Given the description of an element on the screen output the (x, y) to click on. 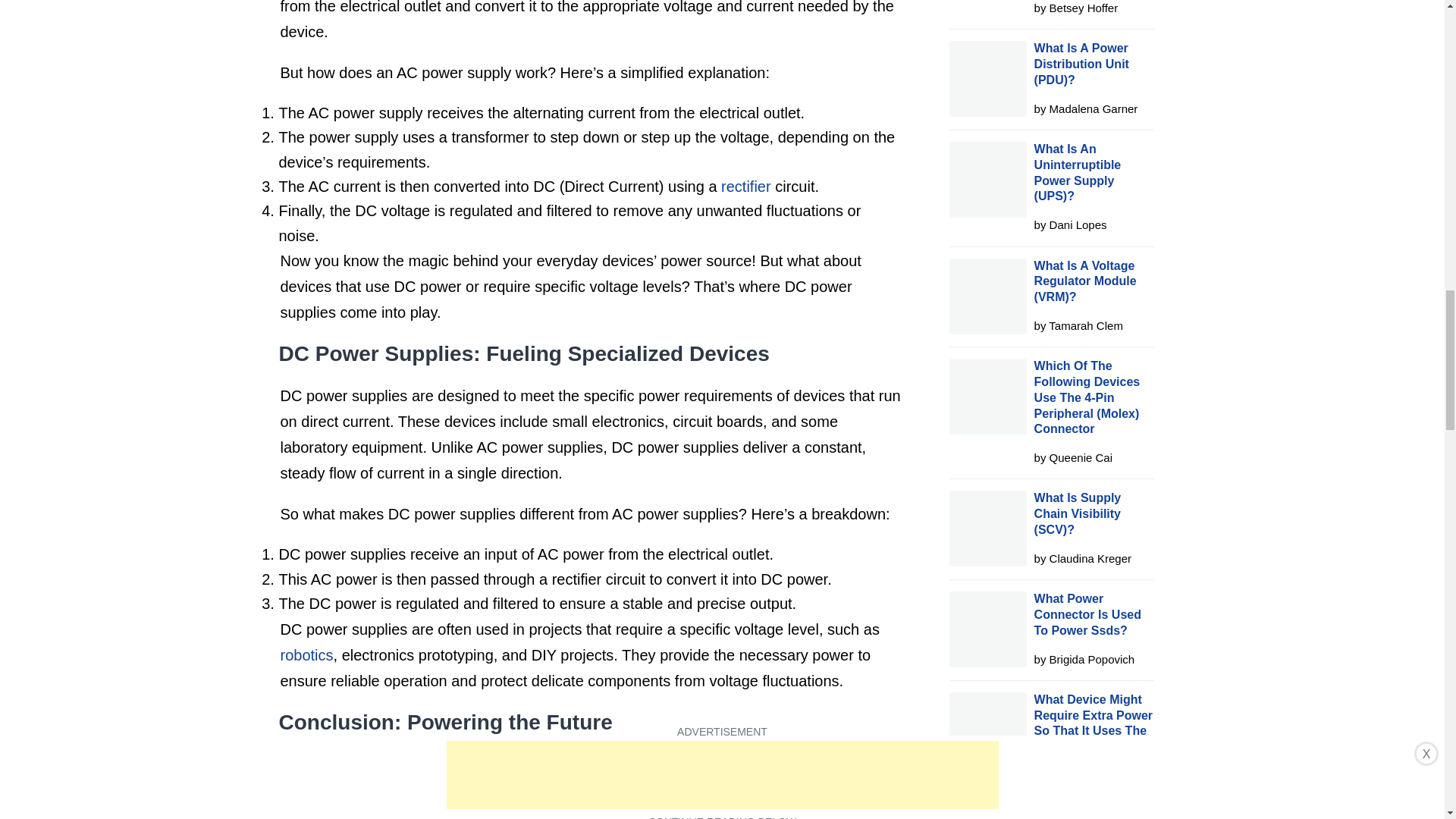
rectifier (745, 186)
robotics (307, 655)
